Given the description of an element on the screen output the (x, y) to click on. 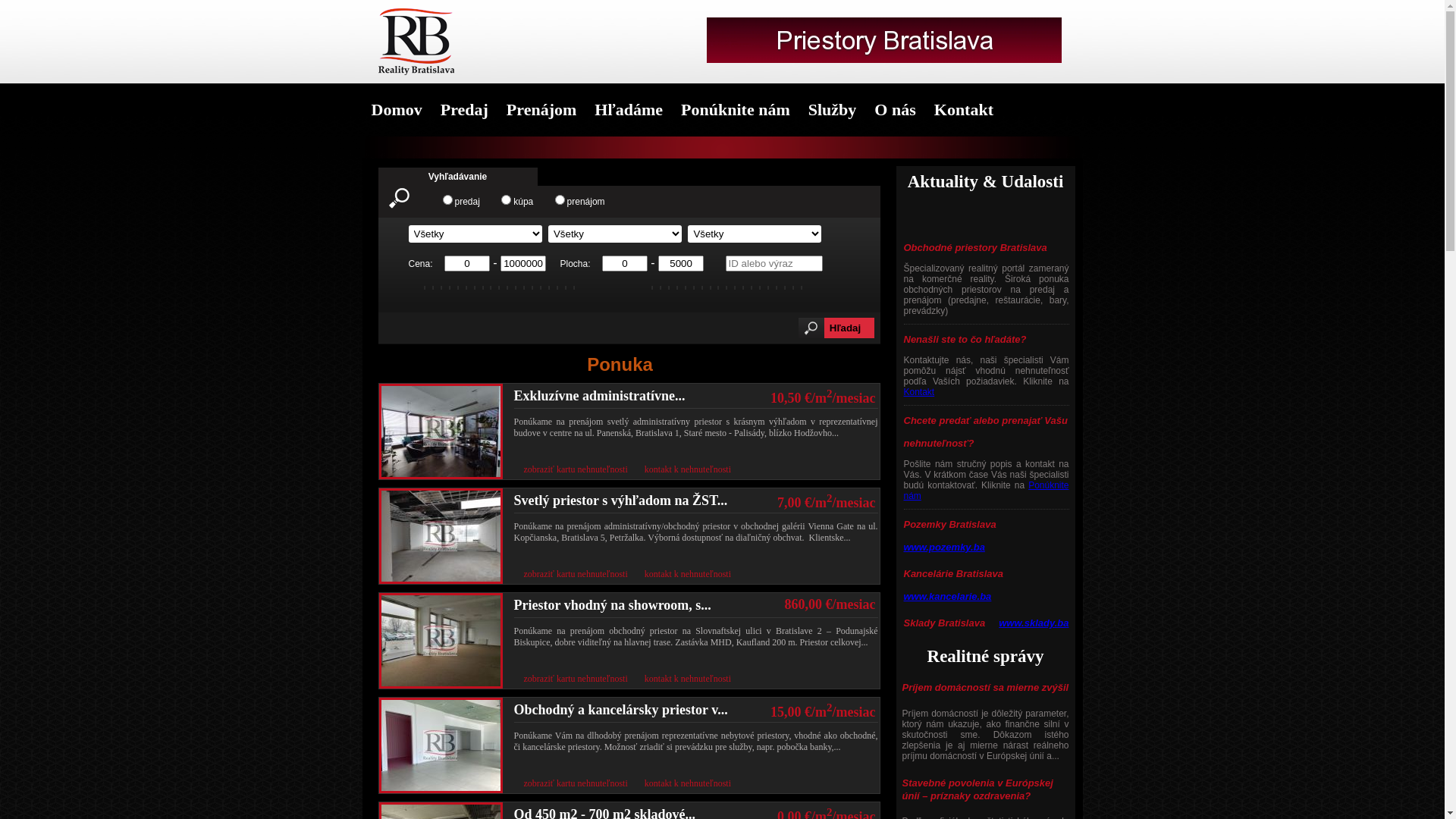
Predaj Element type: text (464, 109)
www.pozemky.ba Element type: text (944, 546)
www.sklady.ba Element type: text (1033, 622)
Kontakt Element type: text (963, 109)
Kontakt Element type: text (919, 391)
www.kancelarie.ba Element type: text (947, 596)
Domov Element type: text (396, 109)
